Given the description of an element on the screen output the (x, y) to click on. 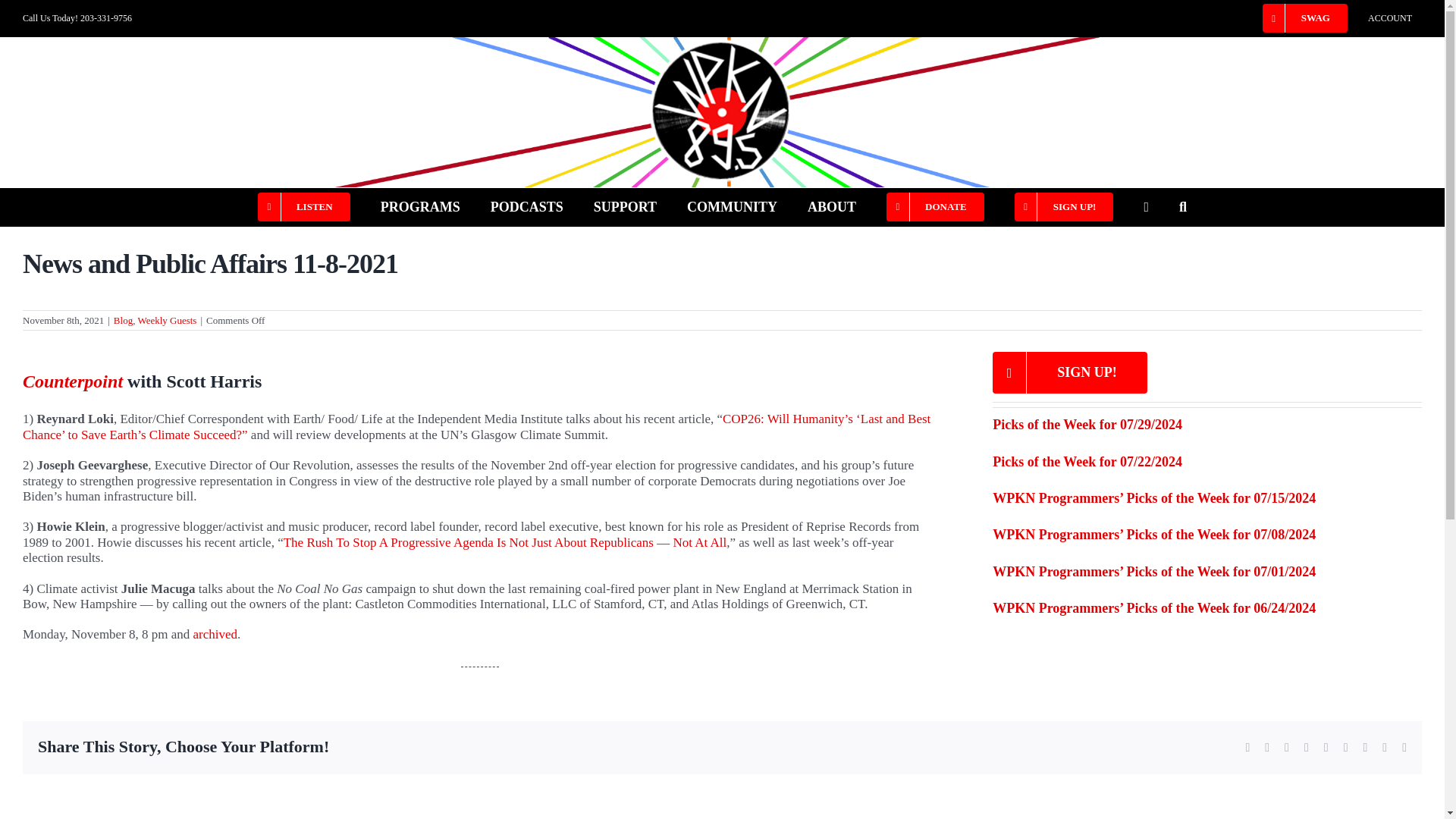
LISTEN (303, 207)
SUPPORT (625, 207)
Accessibility Tools (1424, 95)
PODCASTS (526, 207)
ACCOUNT (1390, 18)
PROGRAMS (420, 207)
COMMUNITY (732, 207)
SWAG (1304, 18)
ABOUT (832, 207)
